Given the description of an element on the screen output the (x, y) to click on. 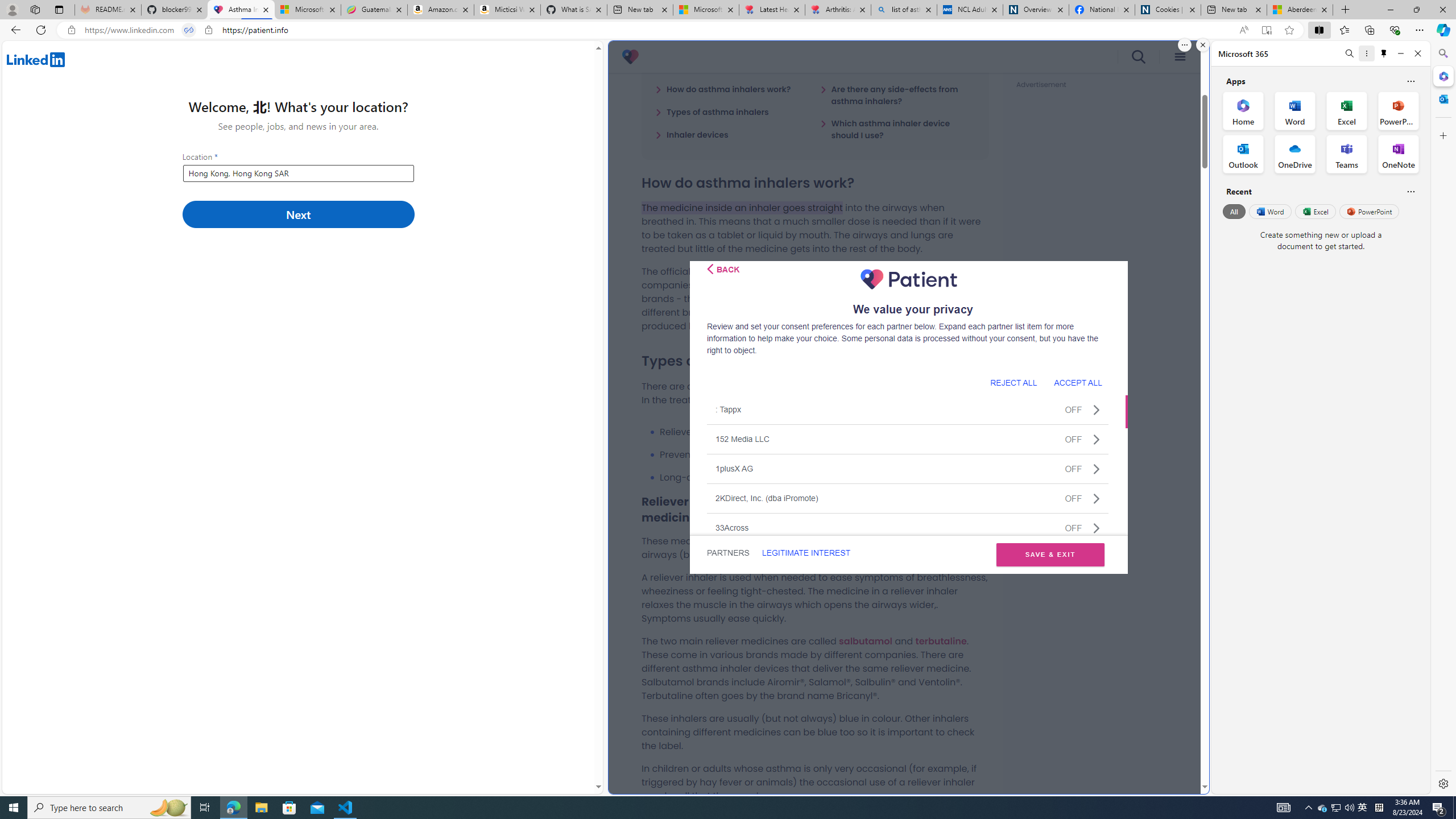
salbutamol (865, 640)
terbutaline (940, 640)
Publisher Logo (908, 278)
Class: css-i5klq5 (710, 268)
Asthma Inhalers: Names and Types (240, 9)
All (1233, 210)
